Given the description of an element on the screen output the (x, y) to click on. 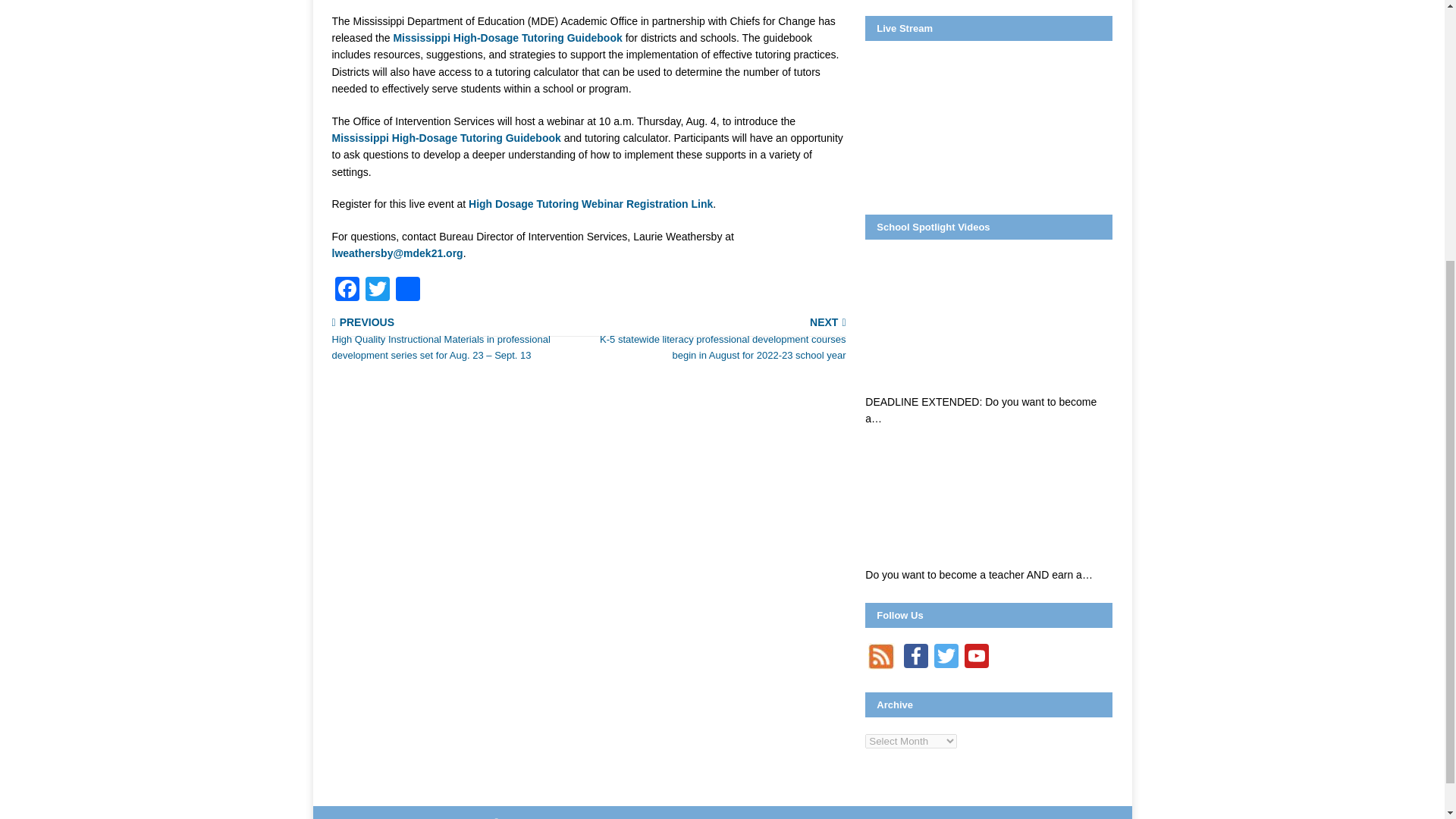
Twitter (945, 657)
YouTube Video Player (988, 496)
YouTube (975, 657)
Facebook (916, 657)
YouTube Video Player (988, 323)
YouTube (975, 657)
Twitter (945, 657)
Facebook (346, 290)
Mississippi High-Dosage Tutoring Guidebook (445, 137)
